Given the description of an element on the screen output the (x, y) to click on. 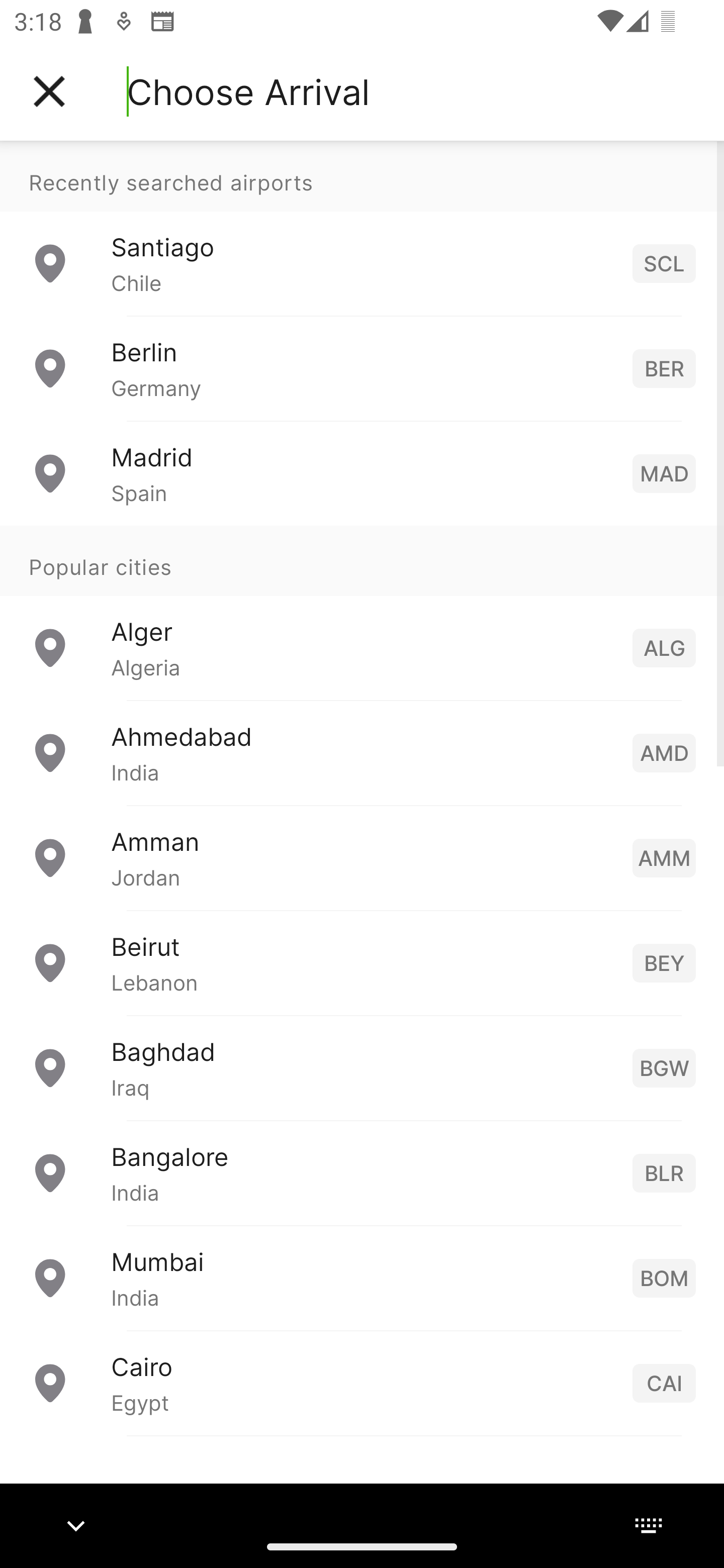
Choose Arrival (247, 91)
Recently searched airports Santiago Chile SCL (362, 228)
Recently searched airports (362, 176)
Berlin Germany BER (362, 367)
Madrid Spain MAD (362, 472)
Popular cities Alger Algeria ALG (362, 612)
Popular cities (362, 560)
Ahmedabad India AMD (362, 751)
Amman Jordan AMM (362, 856)
Beirut Lebanon BEY (362, 961)
Baghdad Iraq BGW (362, 1066)
Bangalore India BLR (362, 1171)
Mumbai India BOM (362, 1276)
Cairo Egypt CAI (362, 1381)
